Given the description of an element on the screen output the (x, y) to click on. 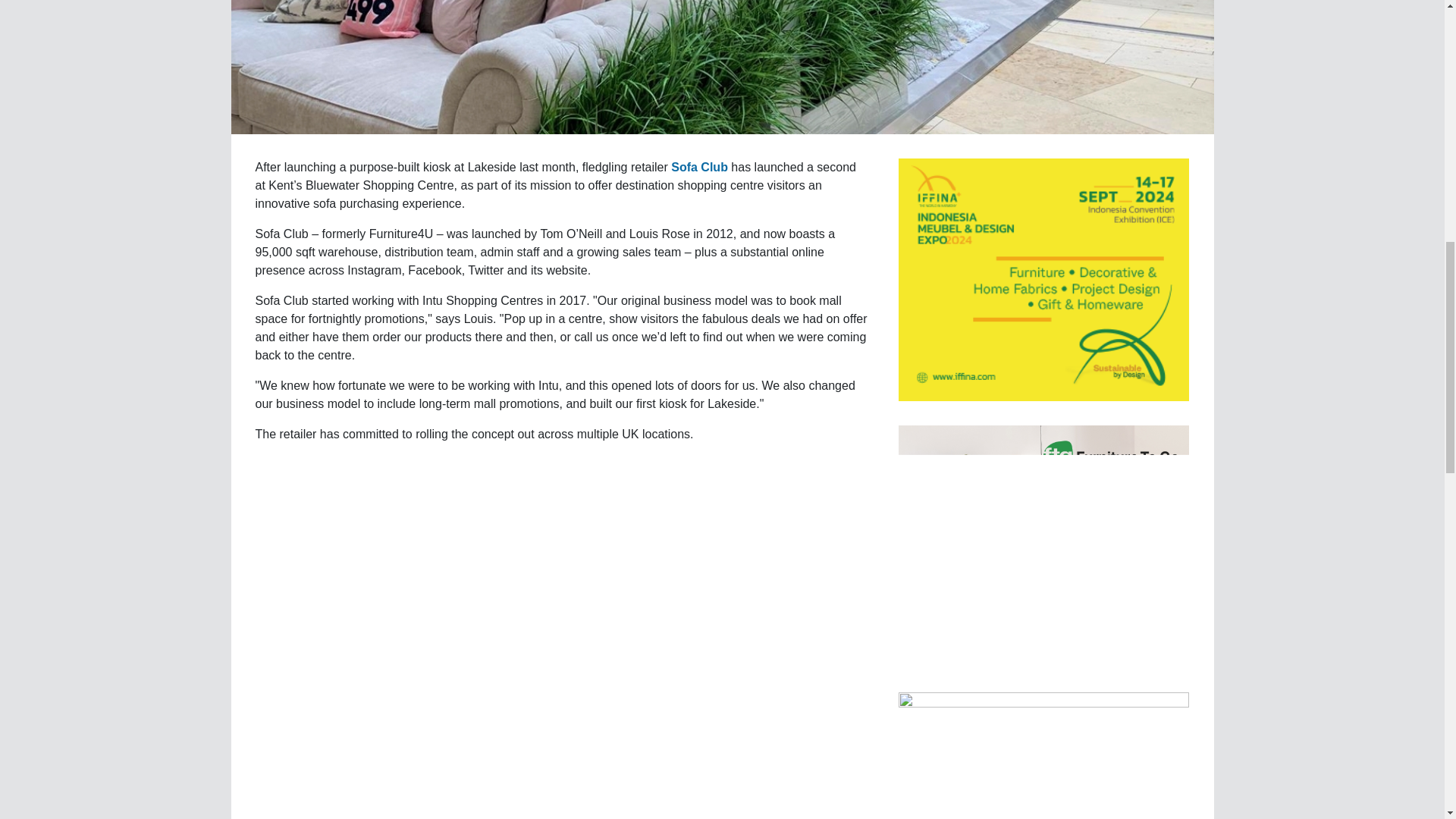
Sofa Club (699, 166)
